Given the description of an element on the screen output the (x, y) to click on. 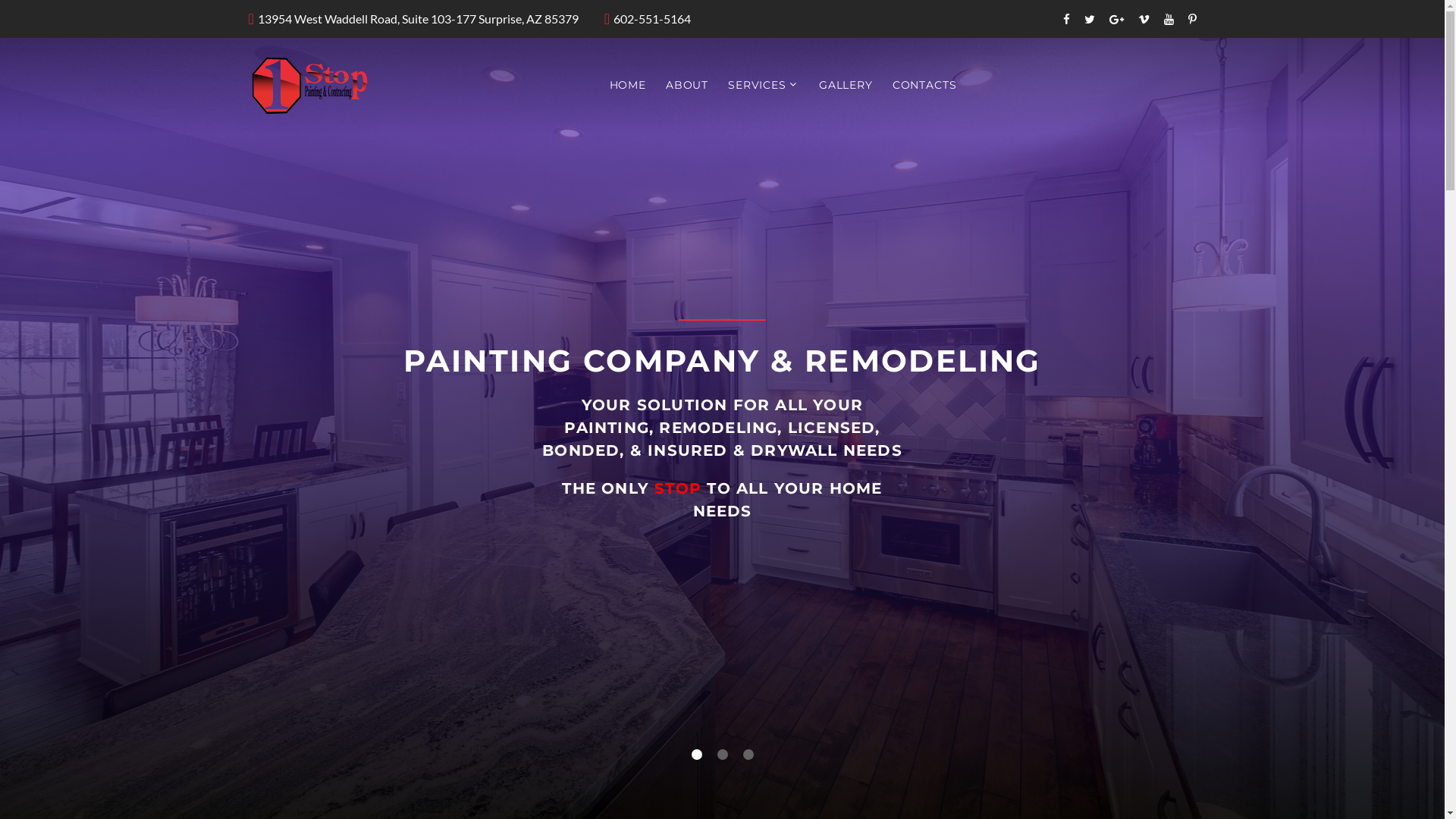
CONTACTS Element type: text (924, 85)
GALLERY Element type: text (845, 85)
HOME Element type: text (627, 85)
602-551-5164 Element type: text (651, 19)
13954 West Waddell Road, Suite 103-177 Surprise, AZ 85379 Element type: text (417, 19)
ABOUT Element type: text (686, 85)
SERVICES Element type: text (757, 85)
